Given the description of an element on the screen output the (x, y) to click on. 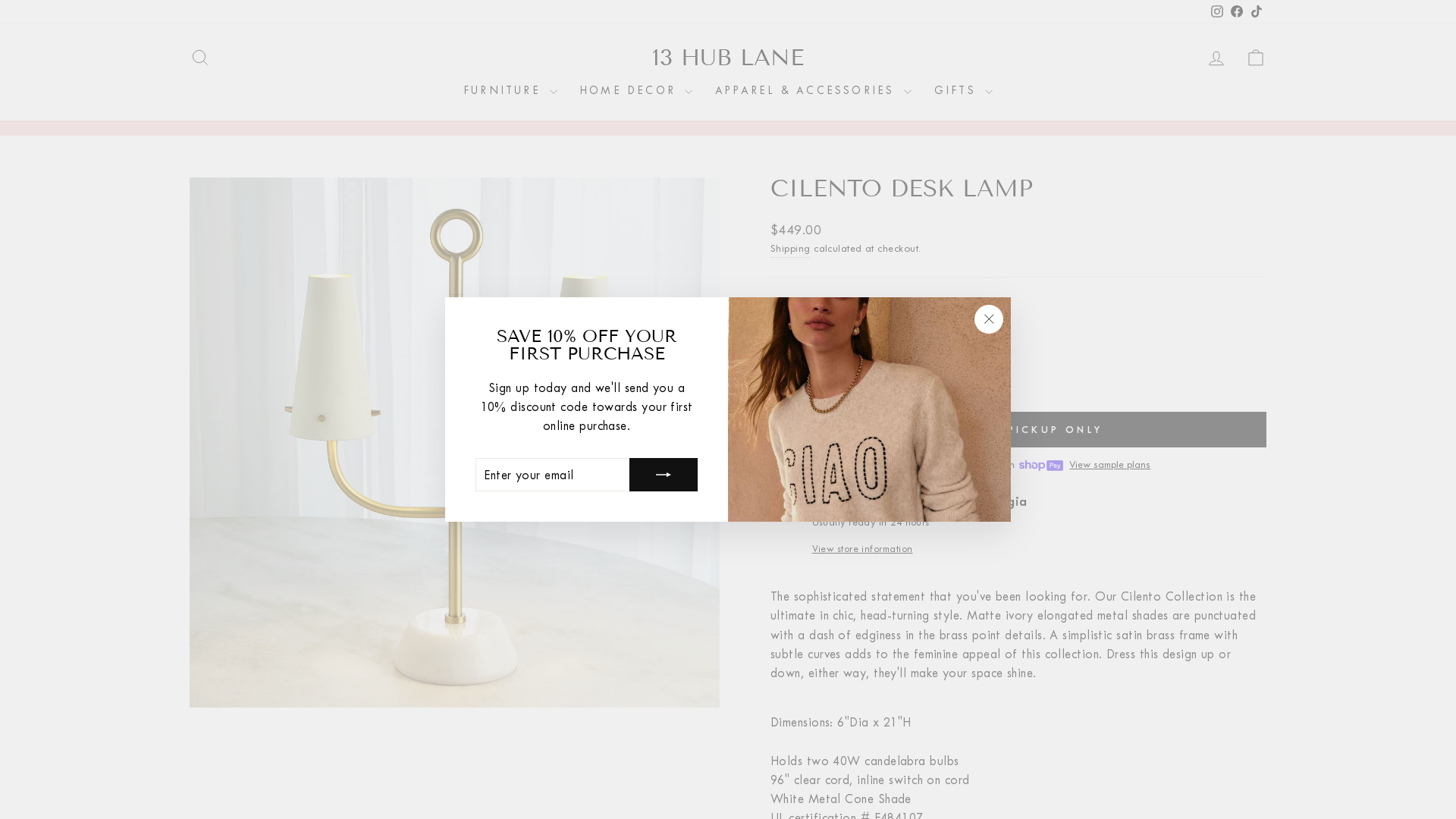
icon-X
"Close (esc)" Element type: text (988, 318)
TikTok Element type: text (1256, 11)
Facebook Element type: text (1236, 11)
instagram
Instagram Element type: text (1216, 11)
View store information Element type: text (1035, 548)
ACCOUNT
LOG IN Element type: text (1216, 57)
13 HUB LANE Element type: text (727, 57)
ICON-BAG-MINIMAL
CART Element type: text (1255, 57)
ICON-SEARCH
SEARCH Element type: text (199, 57)
IN STORE PICKUP ONLY Element type: text (1018, 429)
Shipping Element type: text (790, 248)
